Given the description of an element on the screen output the (x, y) to click on. 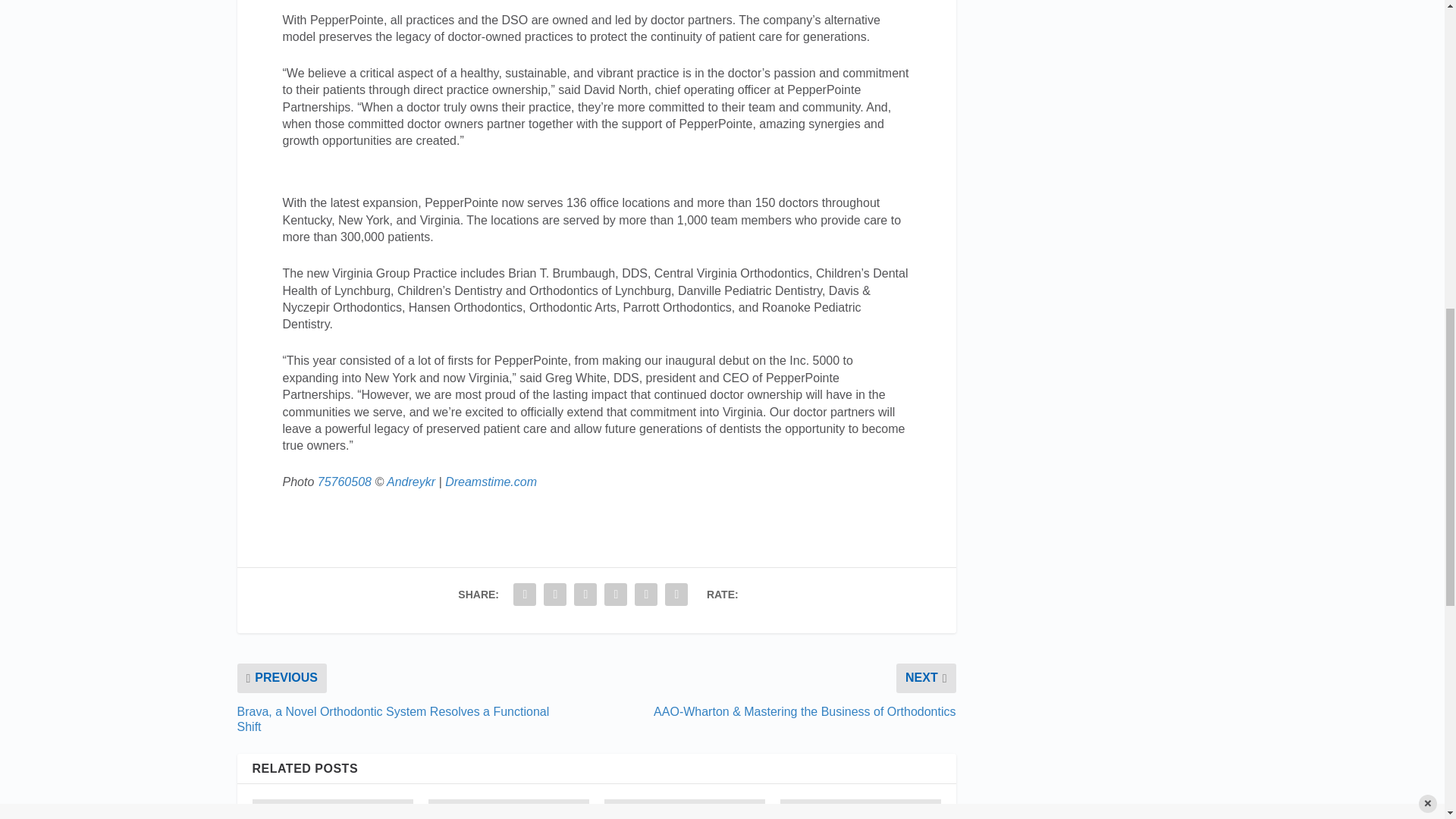
Share "PepperPointe Expands in Virginia Market" via Facebook (524, 594)
OrthoMatrix Elects Ben Shappley as Chairman of the Board (859, 809)
Share "PepperPointe Expands in Virginia Market" via Twitter (555, 594)
Share "PepperPointe Expands in Virginia Market" via Buffer (614, 594)
Share "PepperPointe Expands in Virginia Market" via LinkedIn (584, 594)
OrthoEssentials Announces Next Generation Plastic (684, 809)
Share "PepperPointe Expands in Virginia Market" via Email (645, 594)
Share "PepperPointe Expands in Virginia Market" via Print (676, 594)
